Given the description of an element on the screen output the (x, y) to click on. 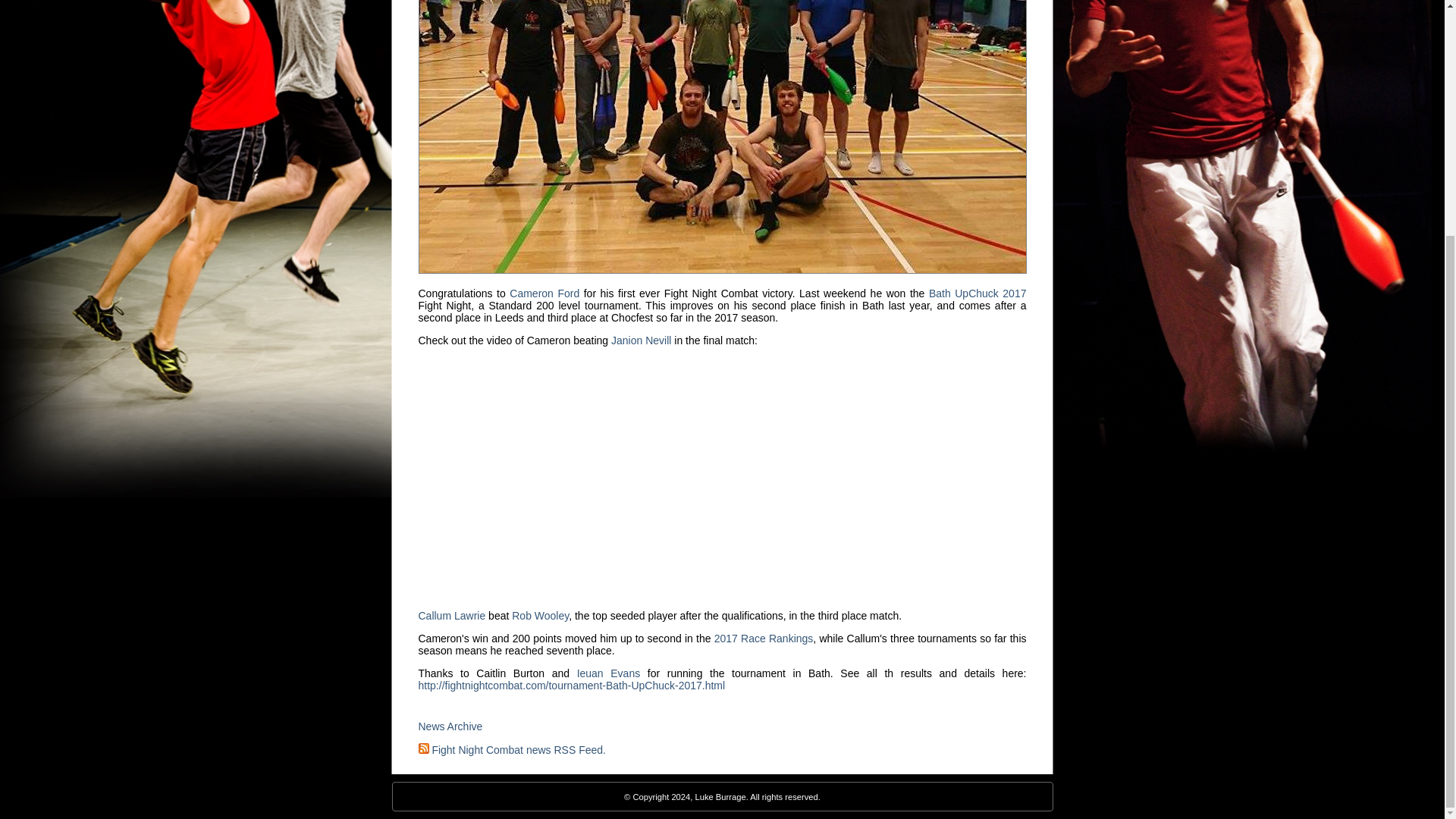
Bath UpChuck 2017 (977, 293)
Cameron Ford (544, 293)
